Given the description of an element on the screen output the (x, y) to click on. 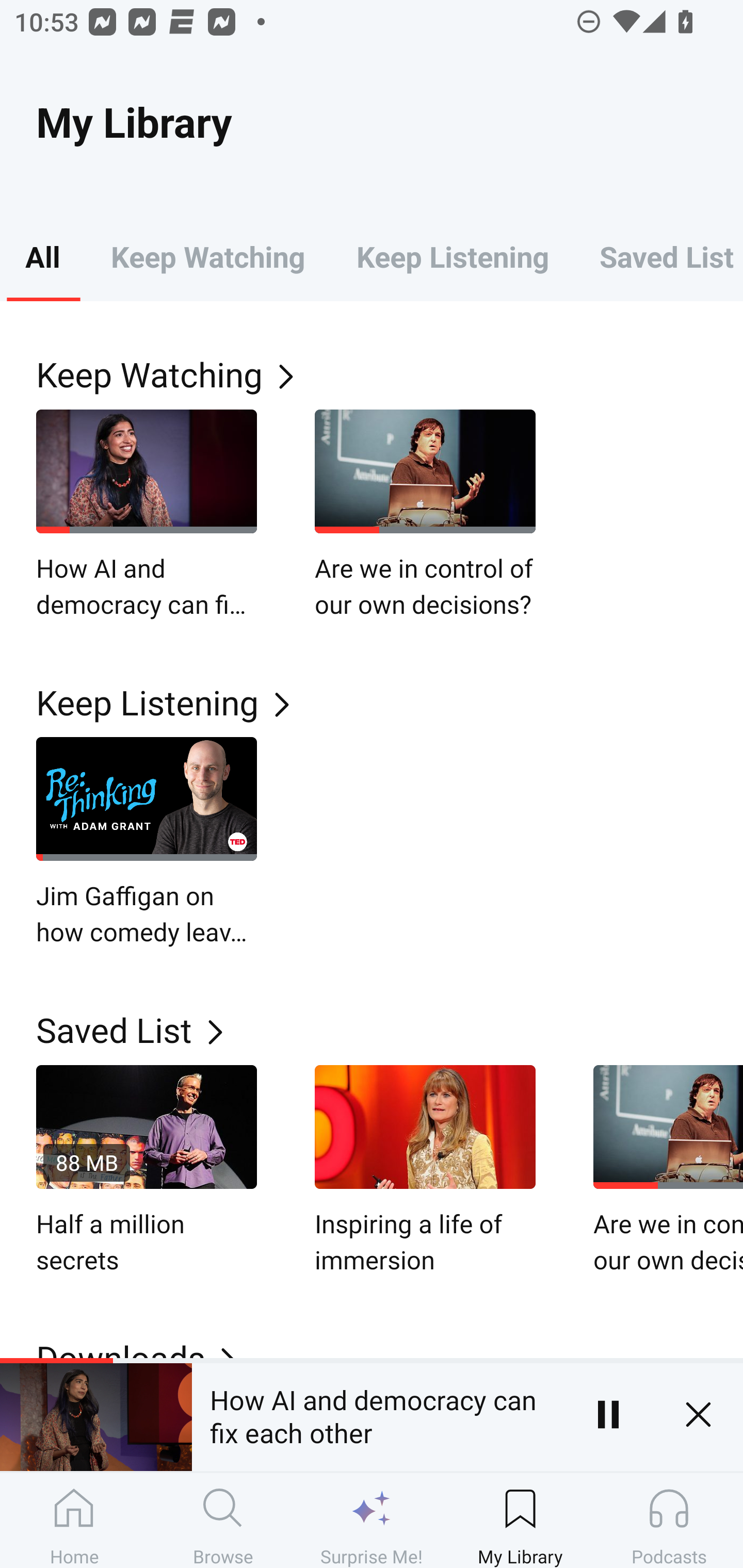
All (42, 256)
Keep Watching (207, 256)
Keep Listening (452, 256)
Saved List (658, 256)
Keep Watching (389, 373)
How AI and democracy can fix each other (146, 514)
Are we in control of our own decisions? (425, 514)
Keep Listening (389, 702)
Jim Gaffigan on how comedy leaves an aftertaste (146, 843)
Saved List (389, 1029)
88 MB Half a million secrets (146, 1170)
Inspiring a life of immersion (425, 1170)
Are we in control of our own decisions? (668, 1170)
How AI and democracy can fix each other (377, 1413)
Home (74, 1520)
Browse (222, 1520)
Surprise Me! (371, 1520)
My Library (519, 1520)
Podcasts (668, 1520)
